Given the description of an element on the screen output the (x, y) to click on. 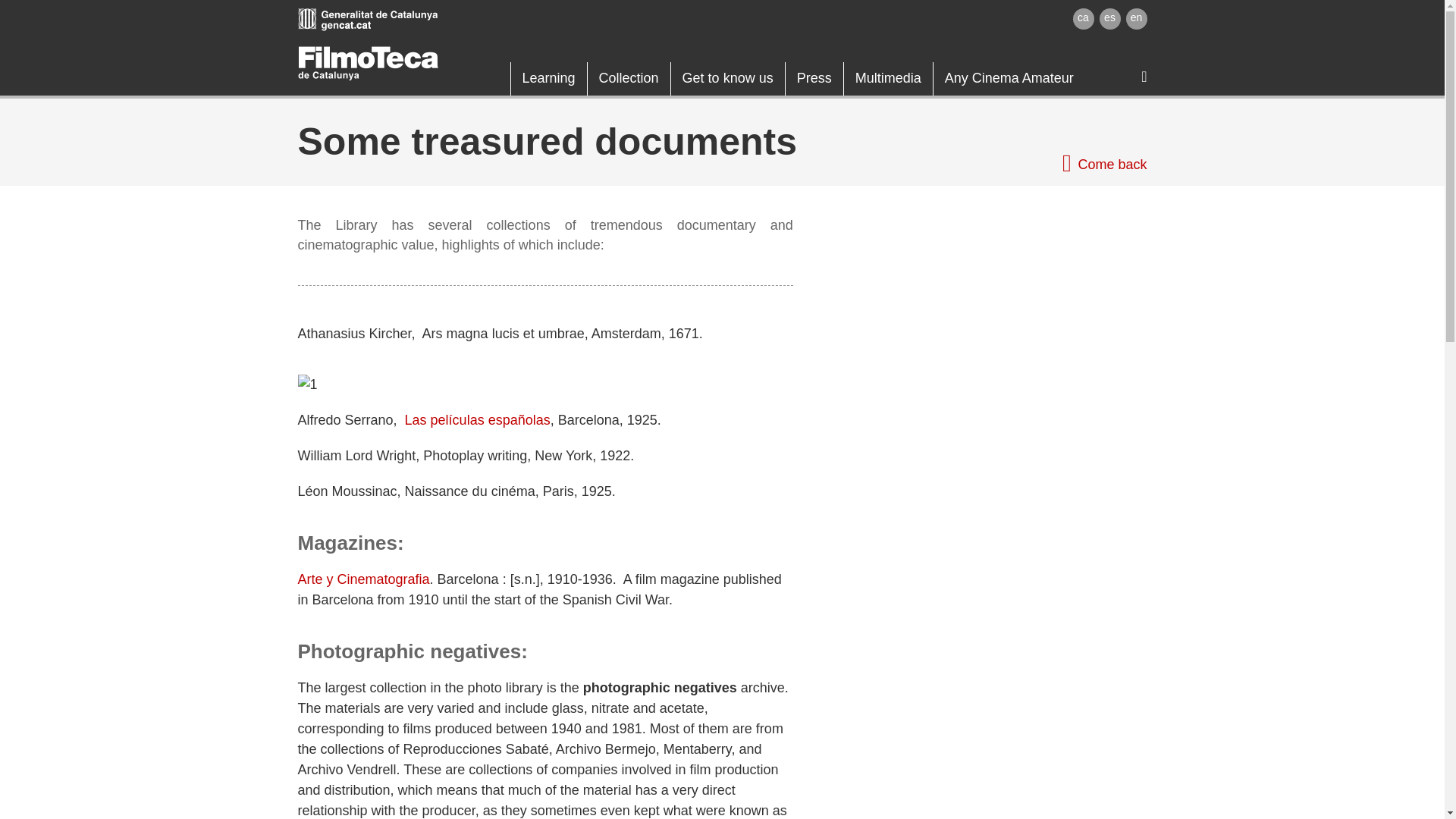
Collection (628, 78)
ca (1082, 18)
Learning (548, 78)
es (1110, 18)
en (1136, 18)
